Given the description of an element on the screen output the (x, y) to click on. 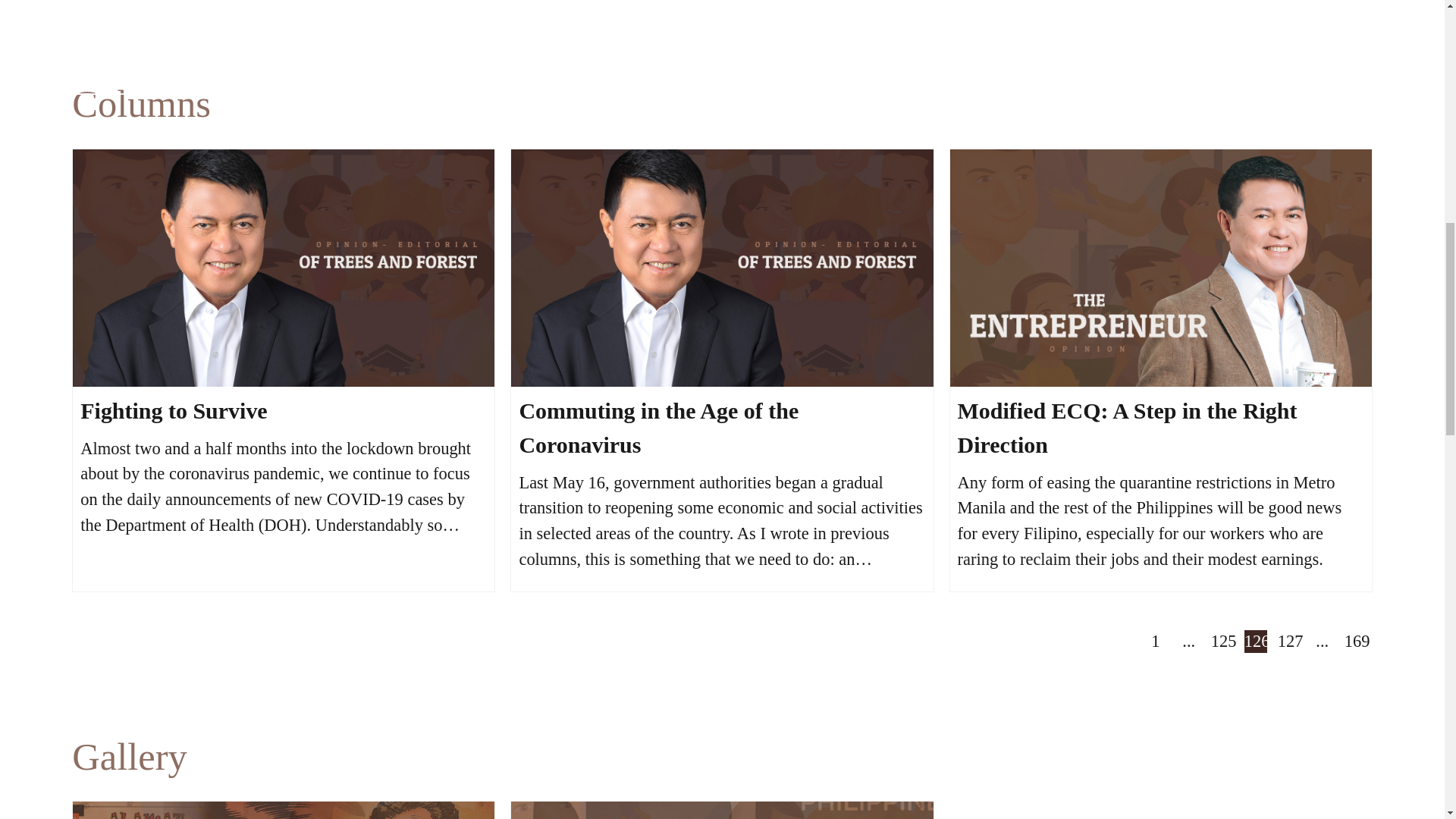
127 (1289, 640)
1 (1155, 640)
125 (1222, 640)
169 (1355, 640)
126 (1255, 640)
